Given the description of an element on the screen output the (x, y) to click on. 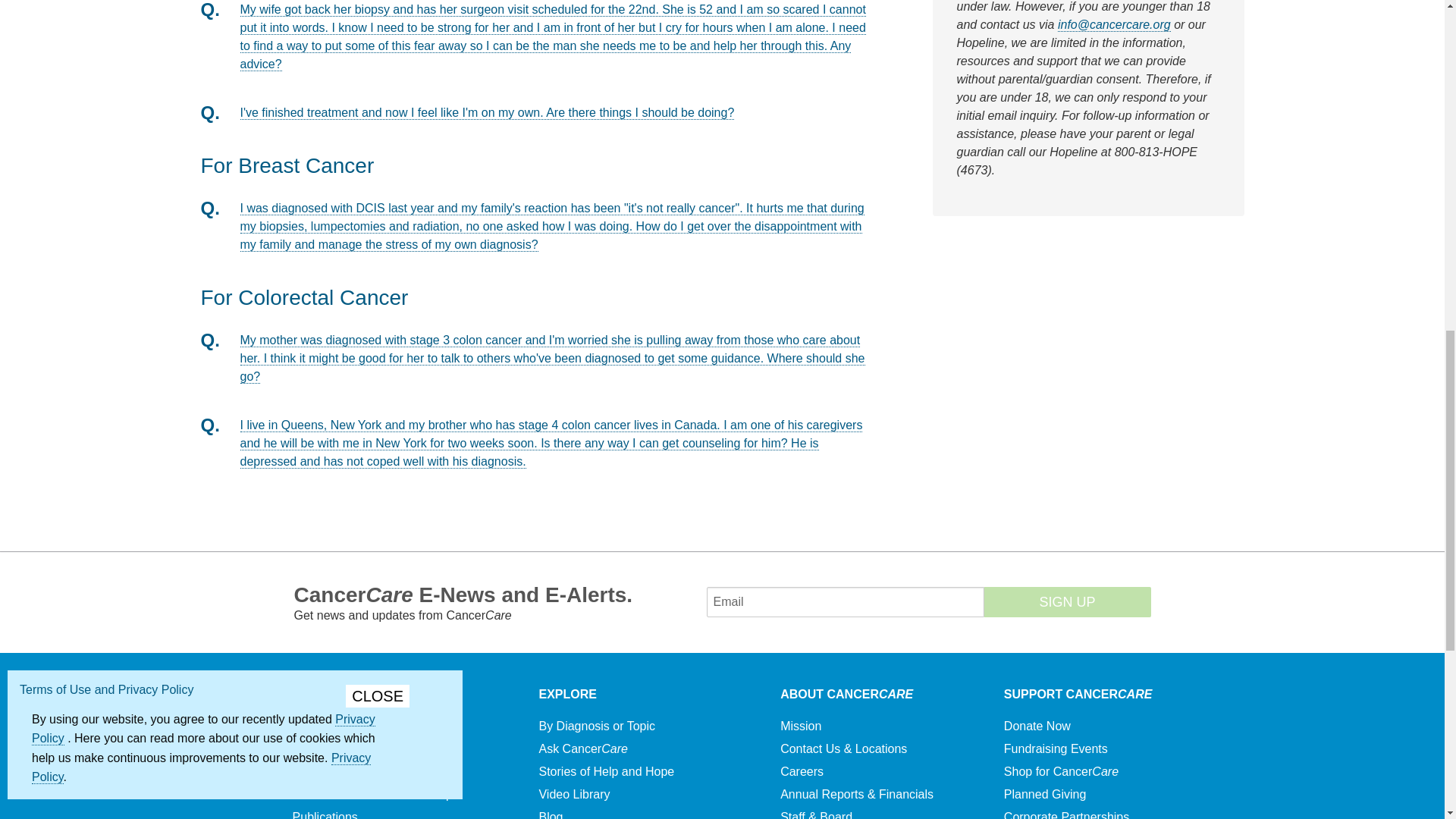
SIGN UP (1067, 602)
